Given the description of an element on the screen output the (x, y) to click on. 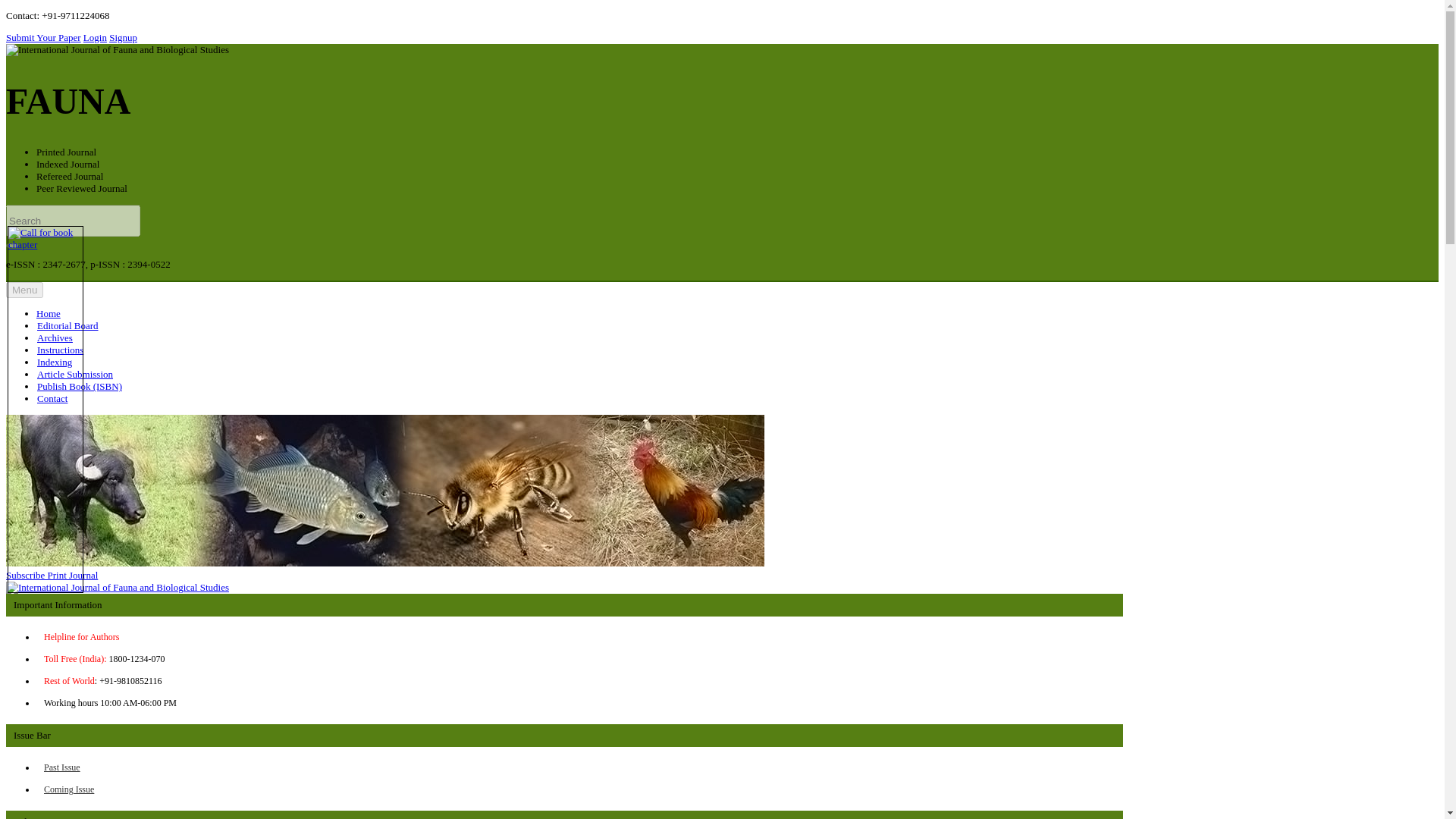
Article Submission (75, 374)
Signup (122, 37)
Contact (51, 397)
Editorial Board (68, 325)
Menu (24, 289)
Subscribe Print Journal (116, 580)
Coming Issue (68, 788)
Past Issue (61, 767)
Login (94, 37)
Archives (54, 337)
